Given the description of an element on the screen output the (x, y) to click on. 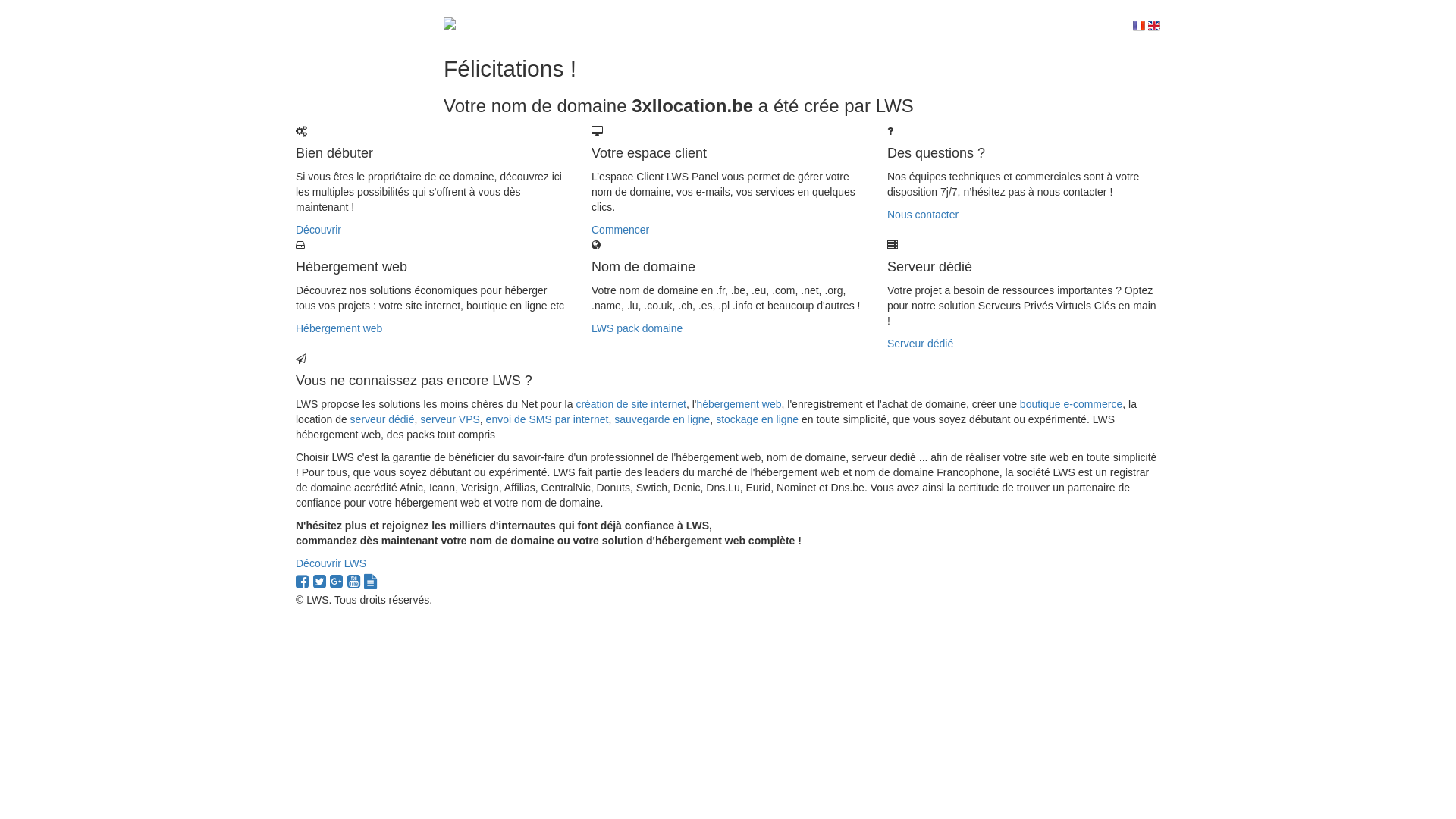
serveur VPS Element type: text (450, 419)
Commencer Element type: text (620, 229)
sauvegarde en ligne Element type: text (661, 419)
boutique e-commerce Element type: text (1070, 404)
Nous contacter Element type: text (922, 214)
stockage en ligne Element type: text (756, 419)
envoi de SMS par internet Element type: text (547, 419)
LWS pack domaine Element type: text (636, 328)
